Given the description of an element on the screen output the (x, y) to click on. 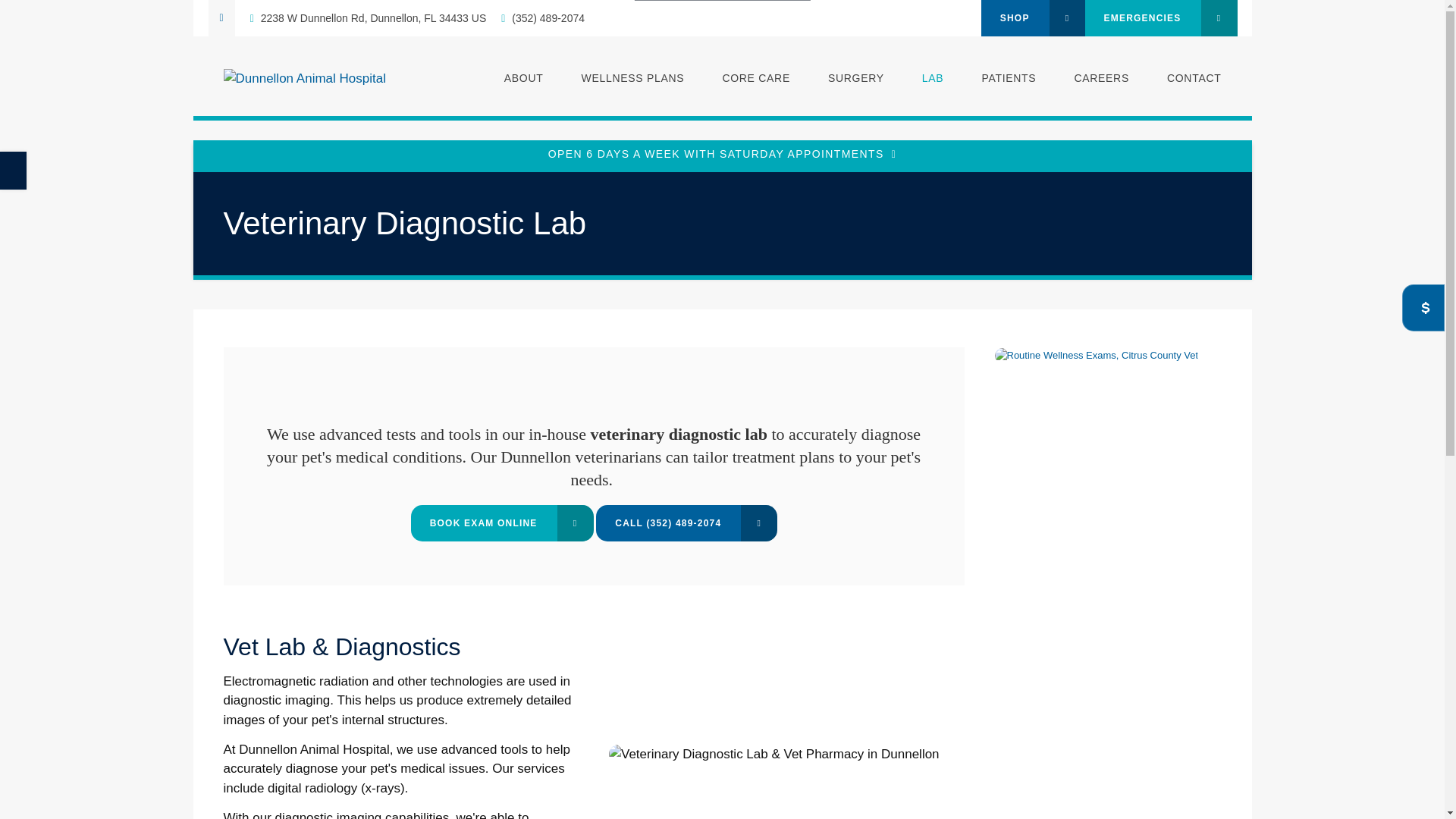
2238 W Dunnellon Rd Dunnellon FL 34433 US (368, 18)
